Given the description of an element on the screen output the (x, y) to click on. 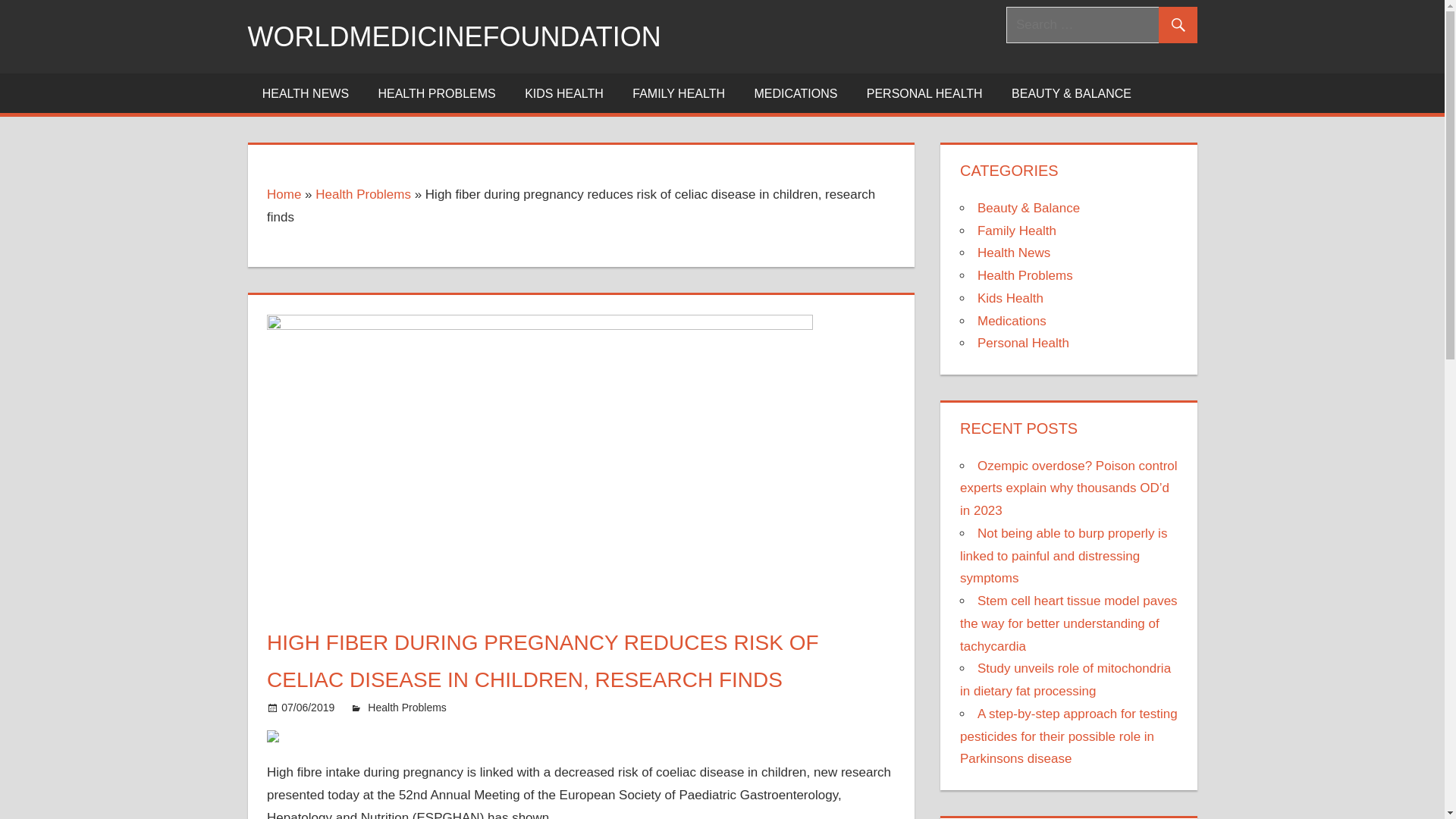
Health Problems (407, 707)
Health Problems (362, 194)
PERSONAL HEALTH (924, 93)
WORLDMEDICINEFOUNDATION (454, 36)
Home (283, 194)
Health News (1012, 252)
HEALTH PROBLEMS (436, 93)
Kids Health (1009, 298)
HEALTH NEWS (304, 93)
KIDS HEALTH (564, 93)
